Given the description of an element on the screen output the (x, y) to click on. 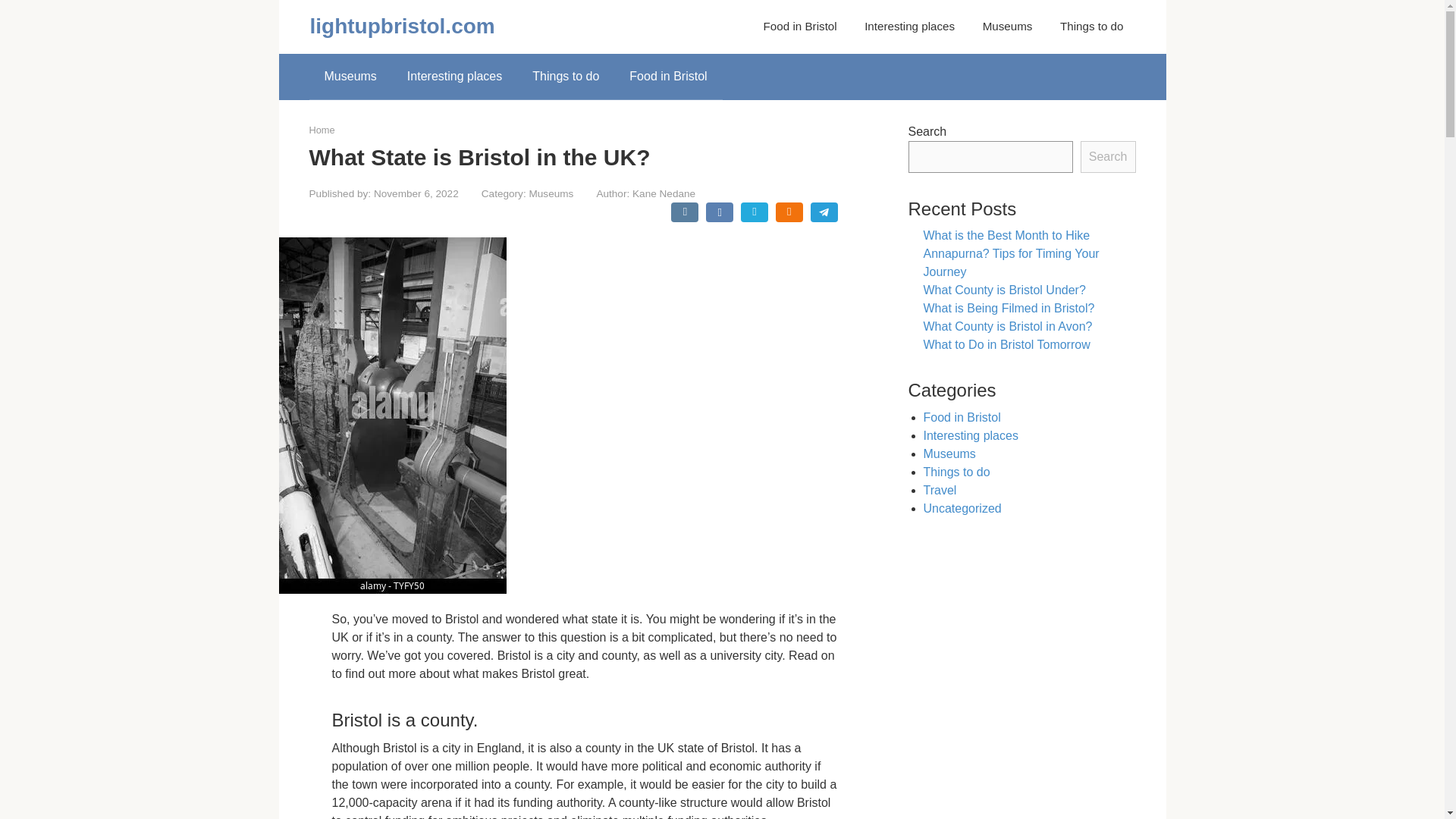
Interesting places (970, 435)
lightupbristol.com (401, 25)
Things to do (956, 472)
What is Being Filmed in Bristol? (1008, 308)
Search (1107, 156)
Food in Bristol (668, 76)
Things to do (565, 76)
What County is Bristol in Avon? (1008, 326)
What County is Bristol Under? (1004, 289)
